Given the description of an element on the screen output the (x, y) to click on. 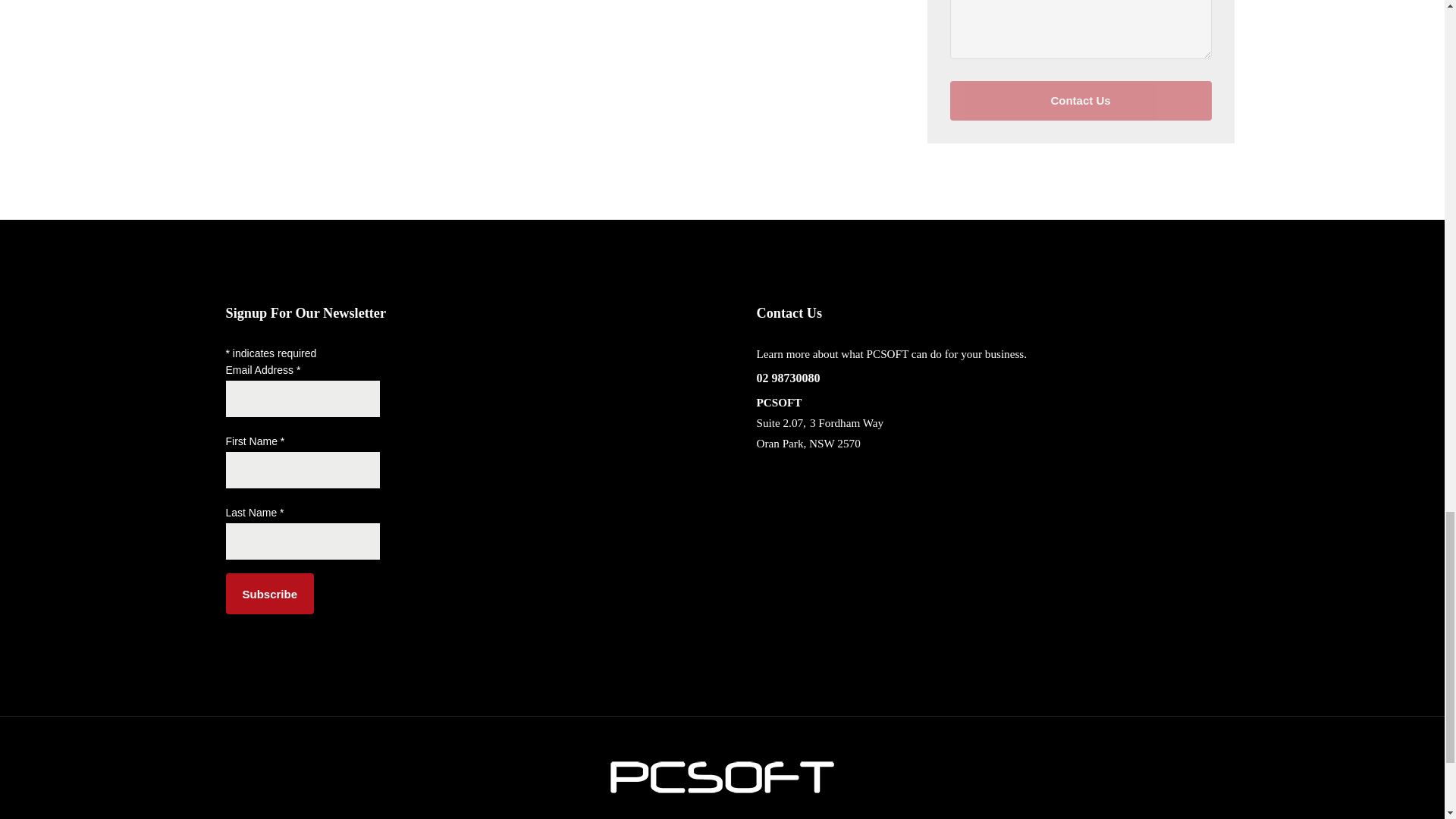
Subscribe (269, 593)
